Given the description of an element on the screen output the (x, y) to click on. 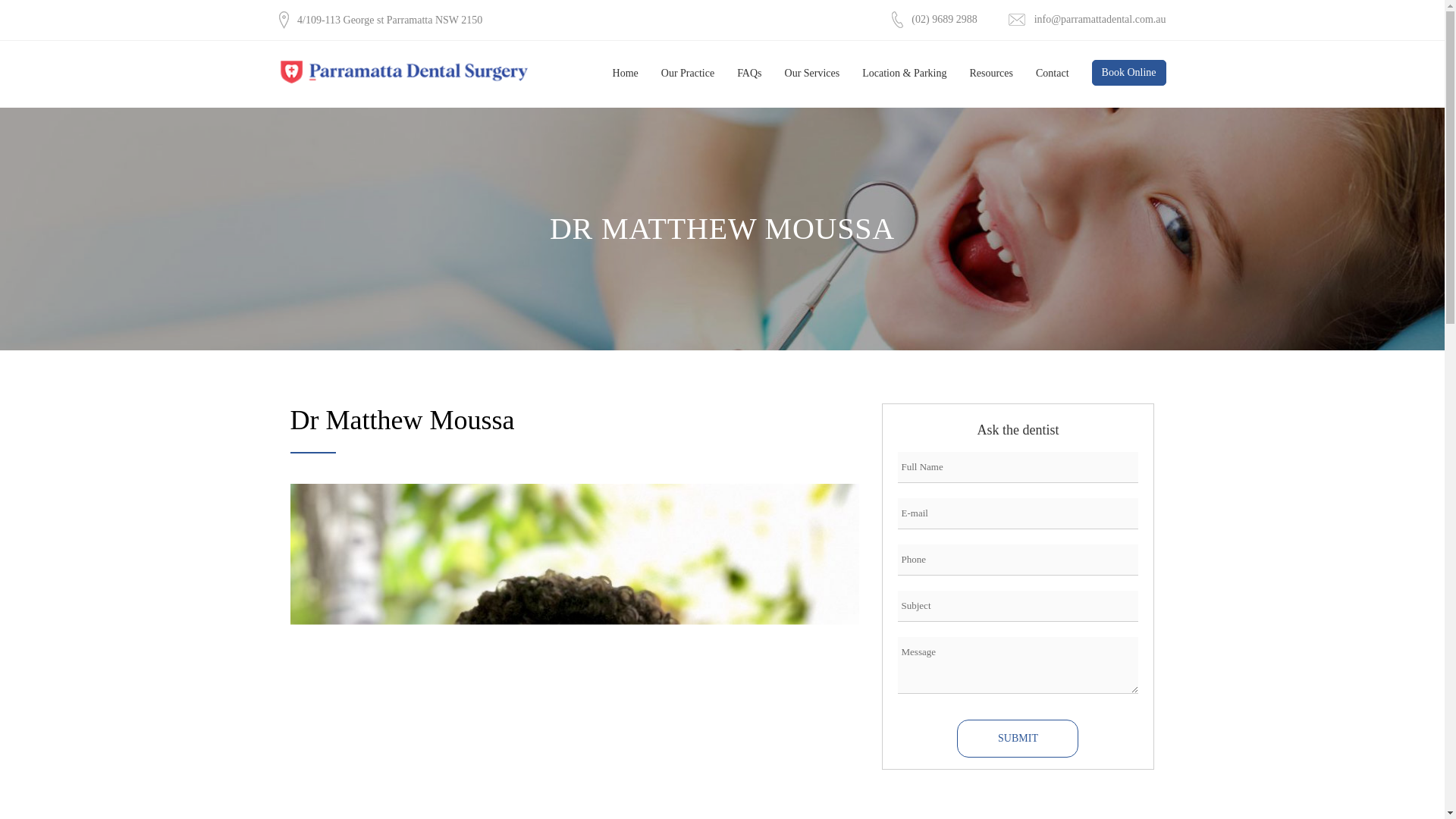
Resources (991, 73)
Book Online (1129, 72)
Dr Matthew Moussa (401, 419)
Home (625, 73)
Submit (1017, 738)
FAQs (749, 73)
Our Services (812, 73)
Our Practice (687, 73)
Contact (1046, 73)
Submit (1017, 738)
